Given the description of an element on the screen output the (x, y) to click on. 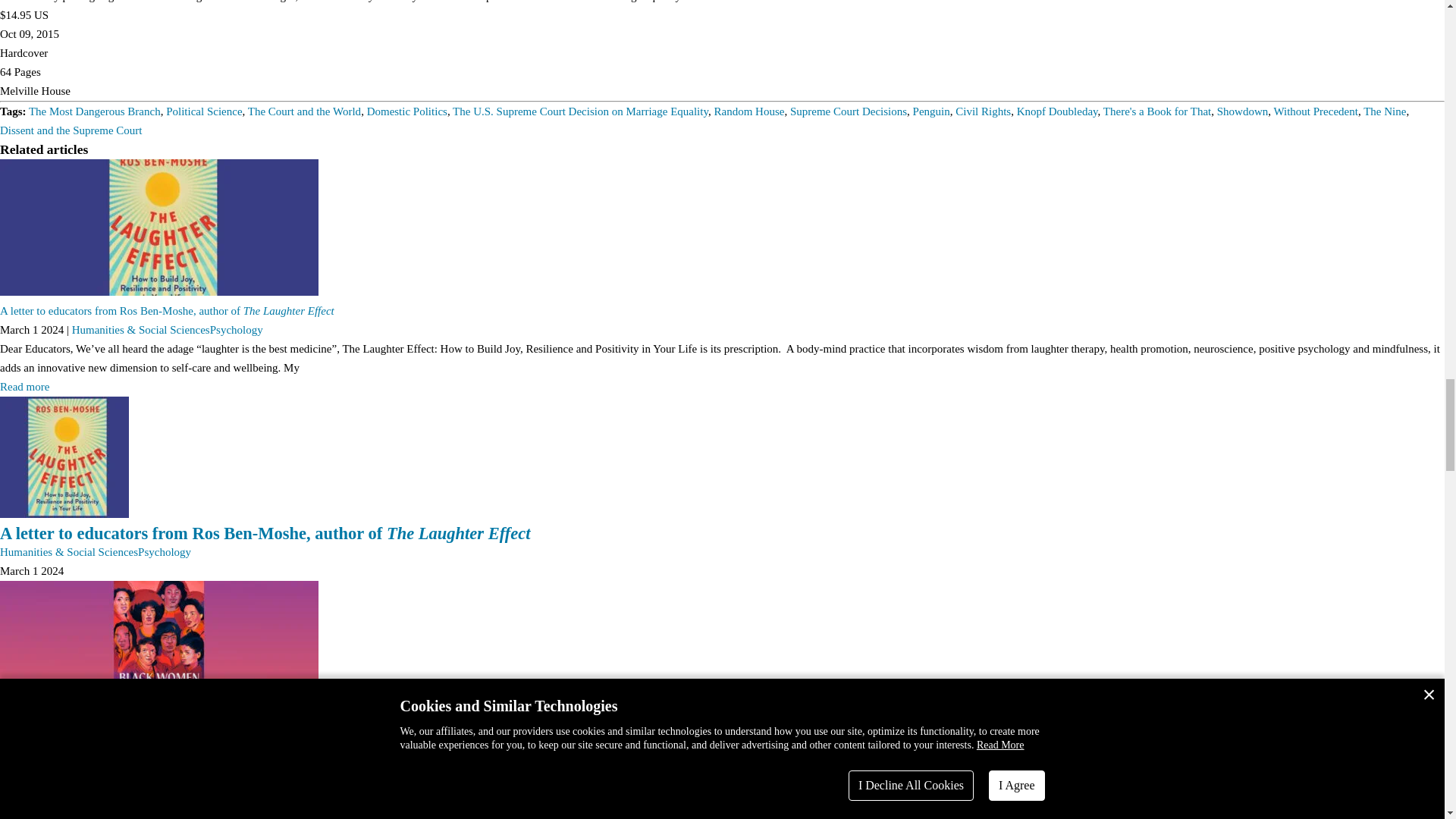
View all posts in African American History (417, 751)
View all posts in Political Science (120, 751)
View all posts in Women's and Gender Studies (543, 751)
View all posts in Psychology (164, 551)
View all posts in Psychology (236, 329)
View all posts in Gender and Sexuality Studies (226, 751)
View all posts in Black History Month (796, 751)
View all posts in Black History (326, 751)
